Given the description of an element on the screen output the (x, y) to click on. 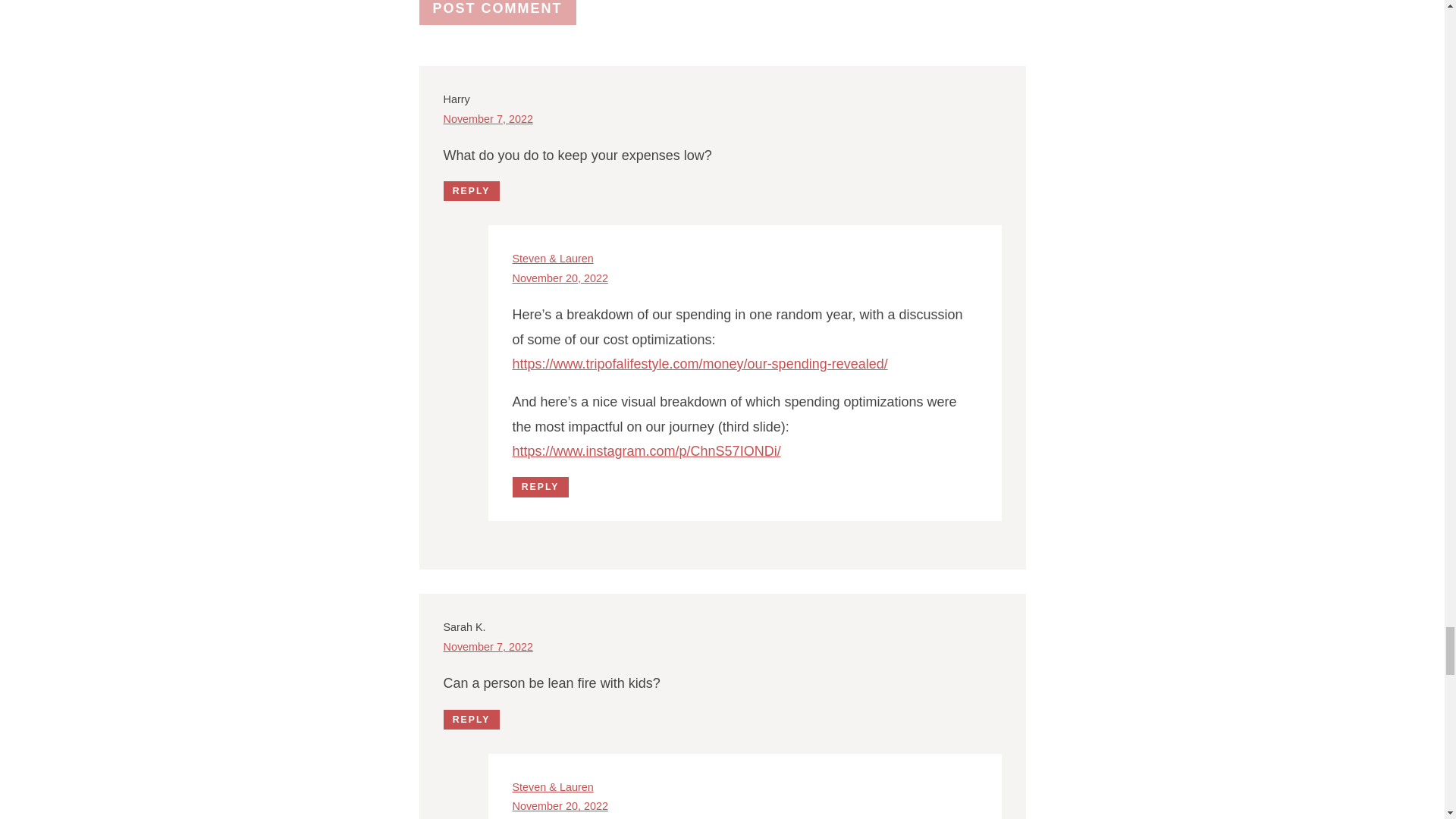
Post Comment (497, 12)
